Given the description of an element on the screen output the (x, y) to click on. 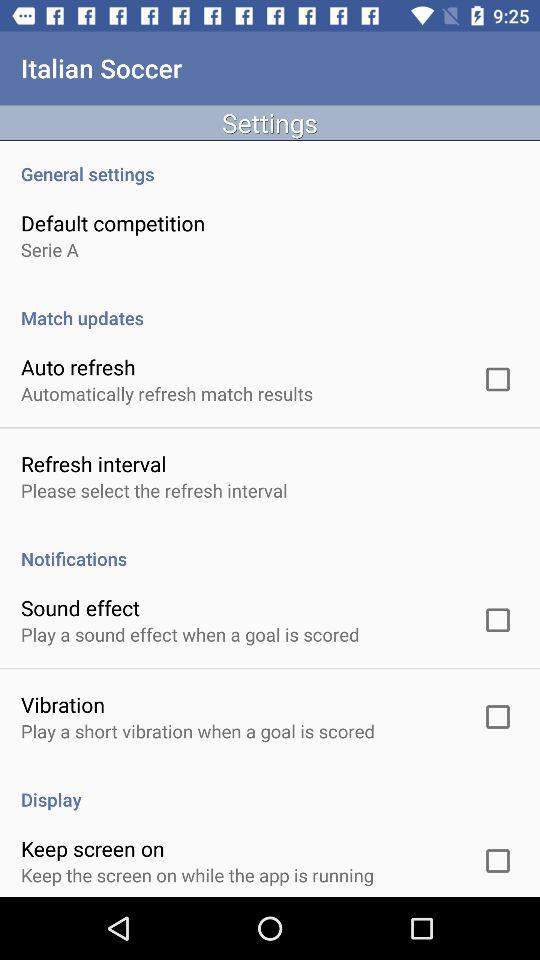
open the app below the settings item (270, 163)
